Given the description of an element on the screen output the (x, y) to click on. 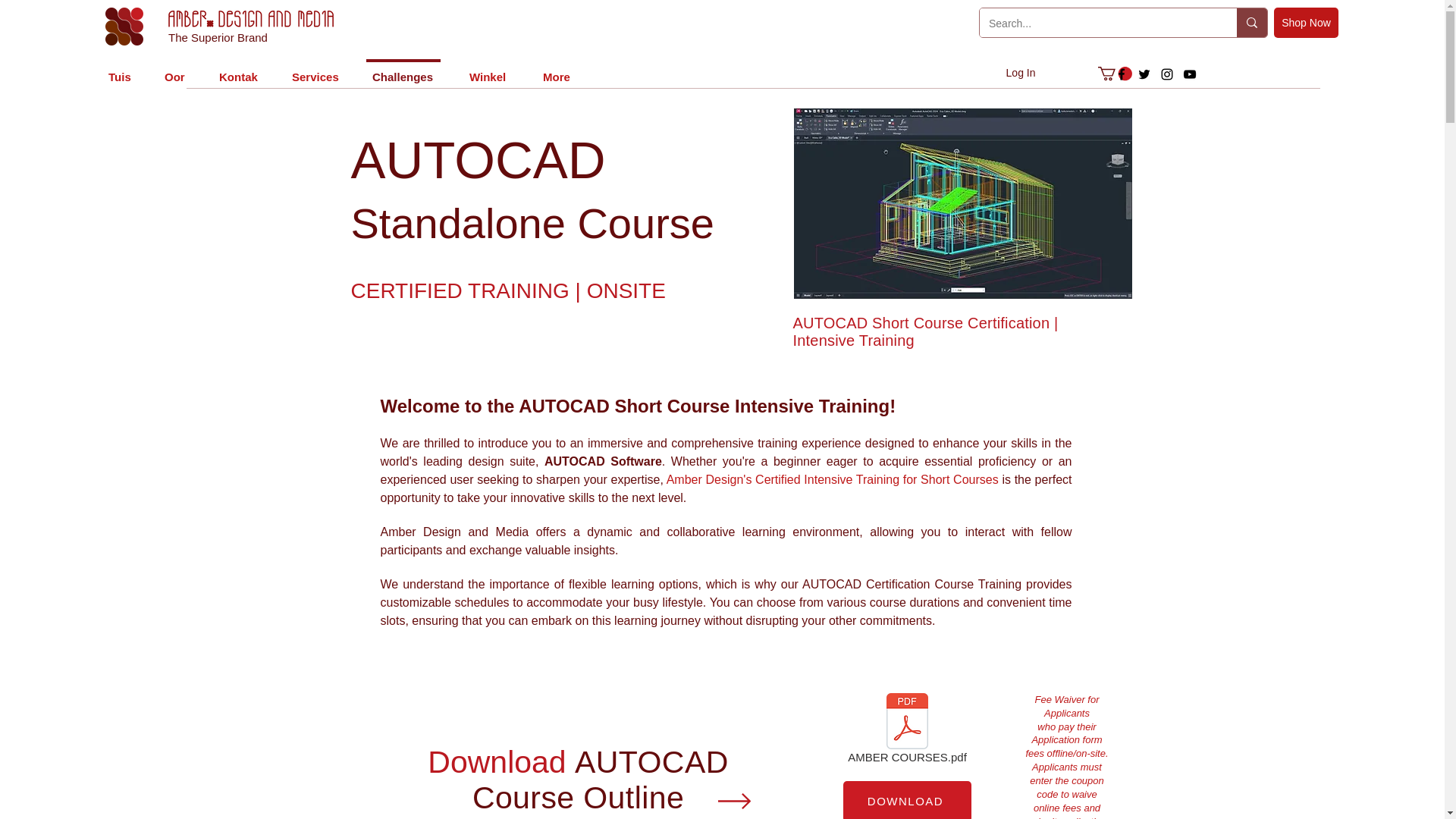
Oor (174, 69)
DOWNLOAD (907, 800)
Log In (1020, 72)
Services (315, 69)
Challenges (403, 69)
Tuis (118, 69)
Shop Now (1306, 22)
Kontak (238, 69)
Winkel (488, 69)
